Given the description of an element on the screen output the (x, y) to click on. 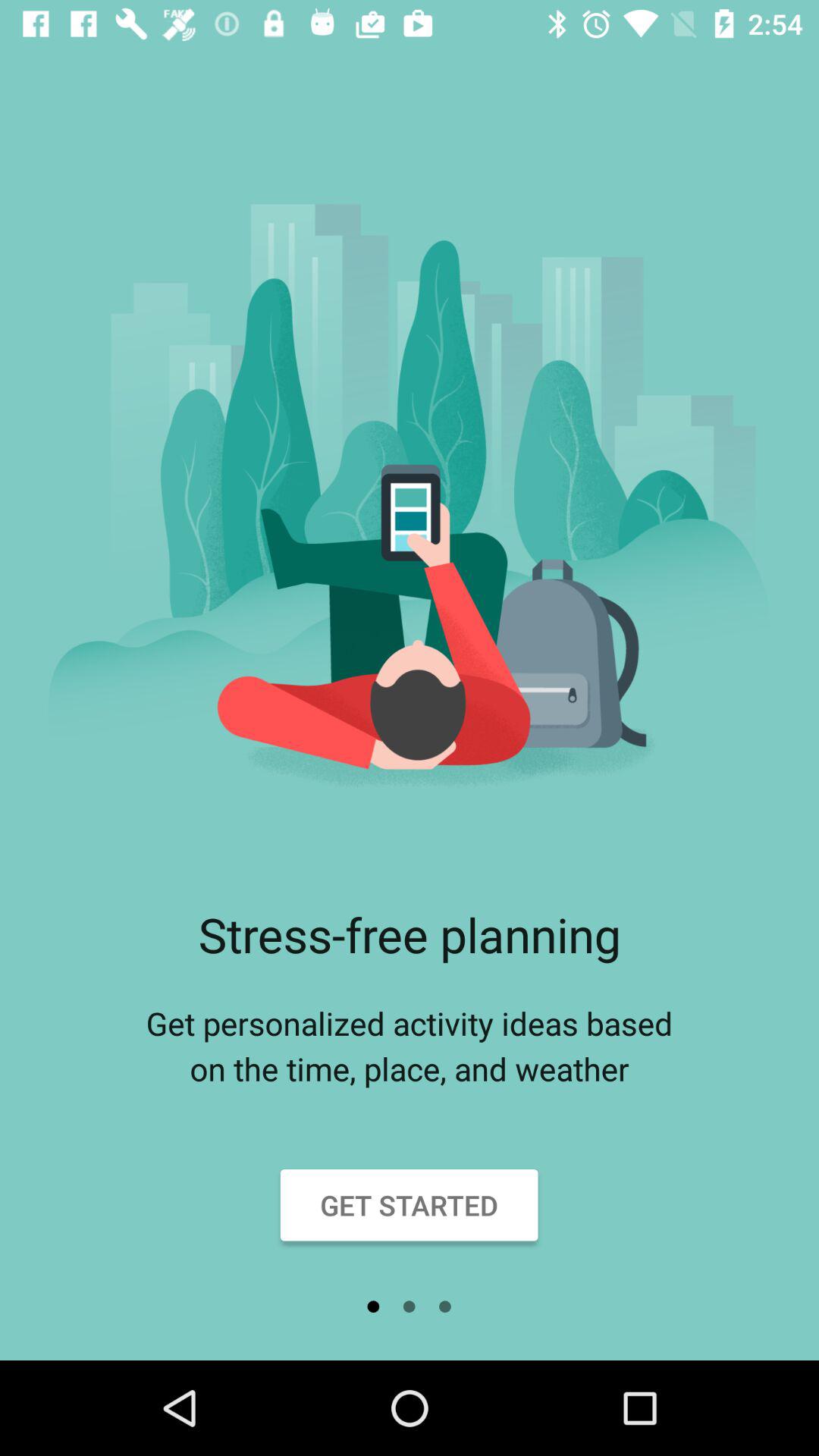
scroll to get started (409, 1204)
